Given the description of an element on the screen output the (x, y) to click on. 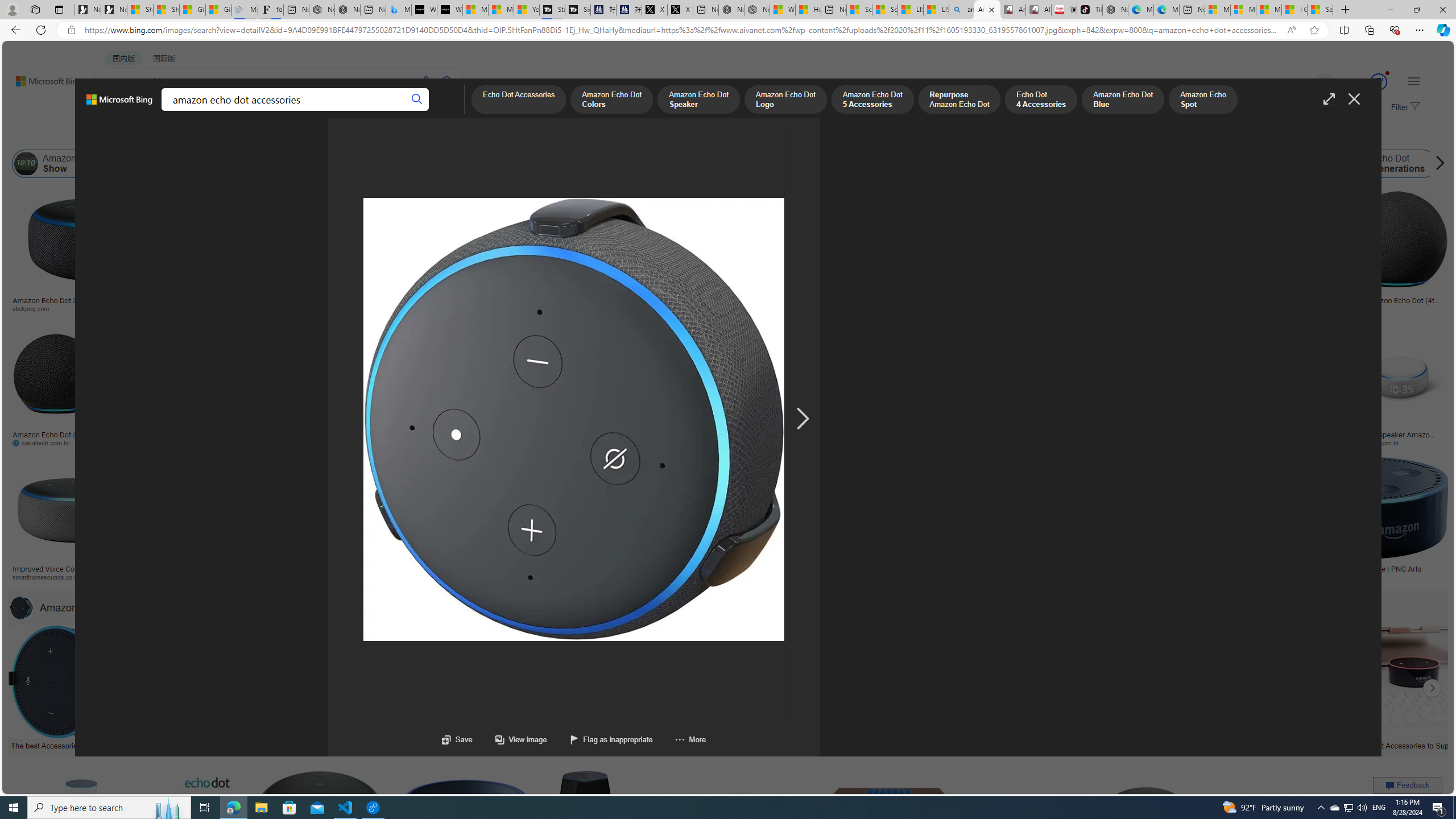
stickpng.herokuapp.com (342, 308)
avenidatecnologica.com (1273, 442)
Back to Bing search (41, 78)
stickpng.herokuapp.com (350, 308)
Amazon Echo Dot 4th Gen (565, 227)
Type (212, 135)
Eugene (1307, 81)
mediamarkt.de (499, 576)
Amazon Echo Show (61, 163)
